Given the description of an element on the screen output the (x, y) to click on. 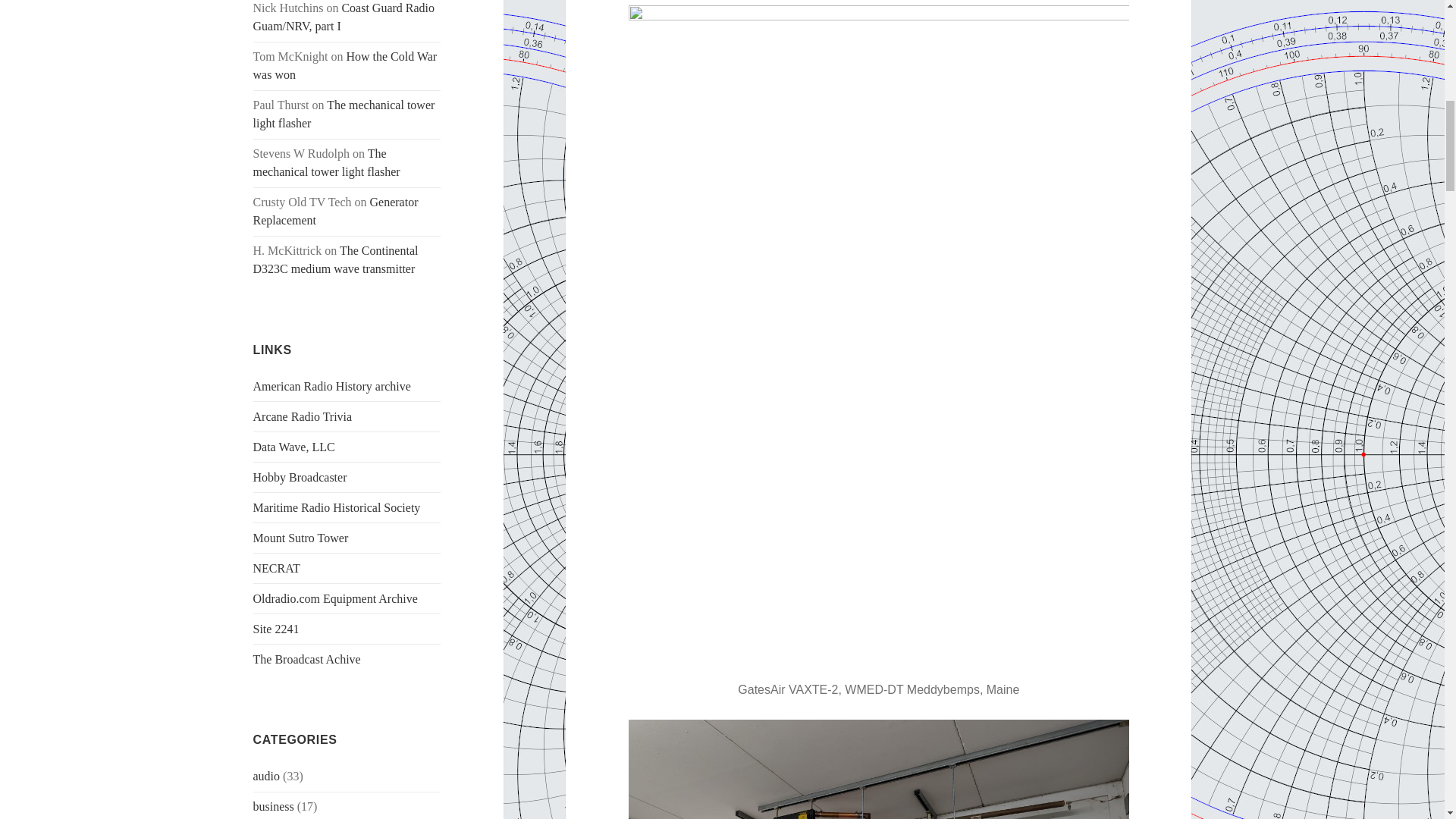
business (273, 806)
American Radio History archive (331, 386)
NECRAT (276, 567)
Archive of US based radio publications (331, 386)
audio (267, 775)
Oldradio.com Equipment Archive (335, 598)
Hobby Broadcaster (300, 477)
The mechanical tower light flasher (344, 113)
Site 2241 (276, 628)
Maritime Radio Historical Society (336, 507)
Arcane Radio Trivia (302, 416)
The Broadcast Achive (307, 658)
Data Wave, LLC (293, 446)
How the Cold War was won (345, 65)
Tower and Antenna photography (276, 567)
